Given the description of an element on the screen output the (x, y) to click on. 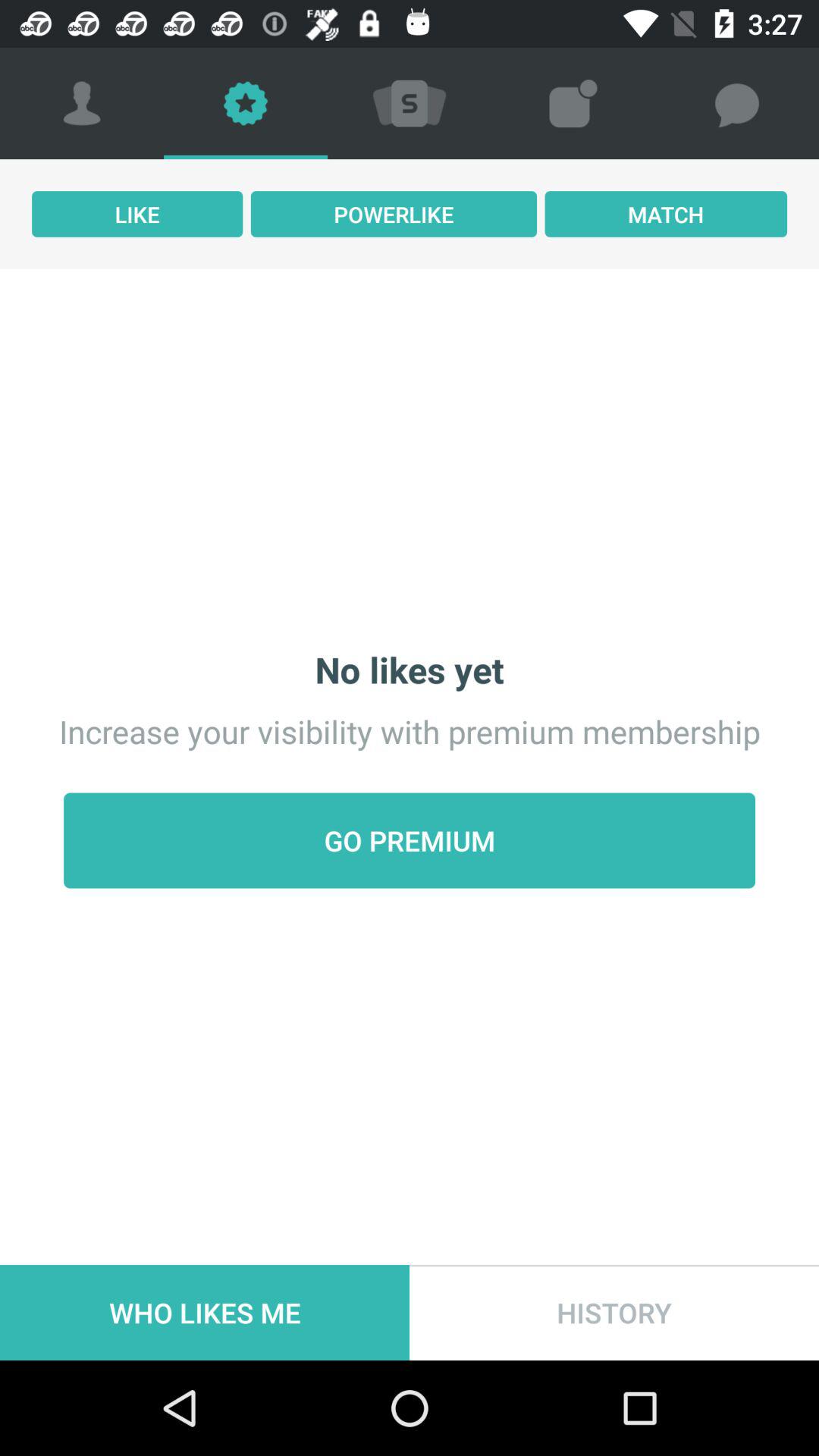
swipe to go premium item (409, 840)
